Given the description of an element on the screen output the (x, y) to click on. 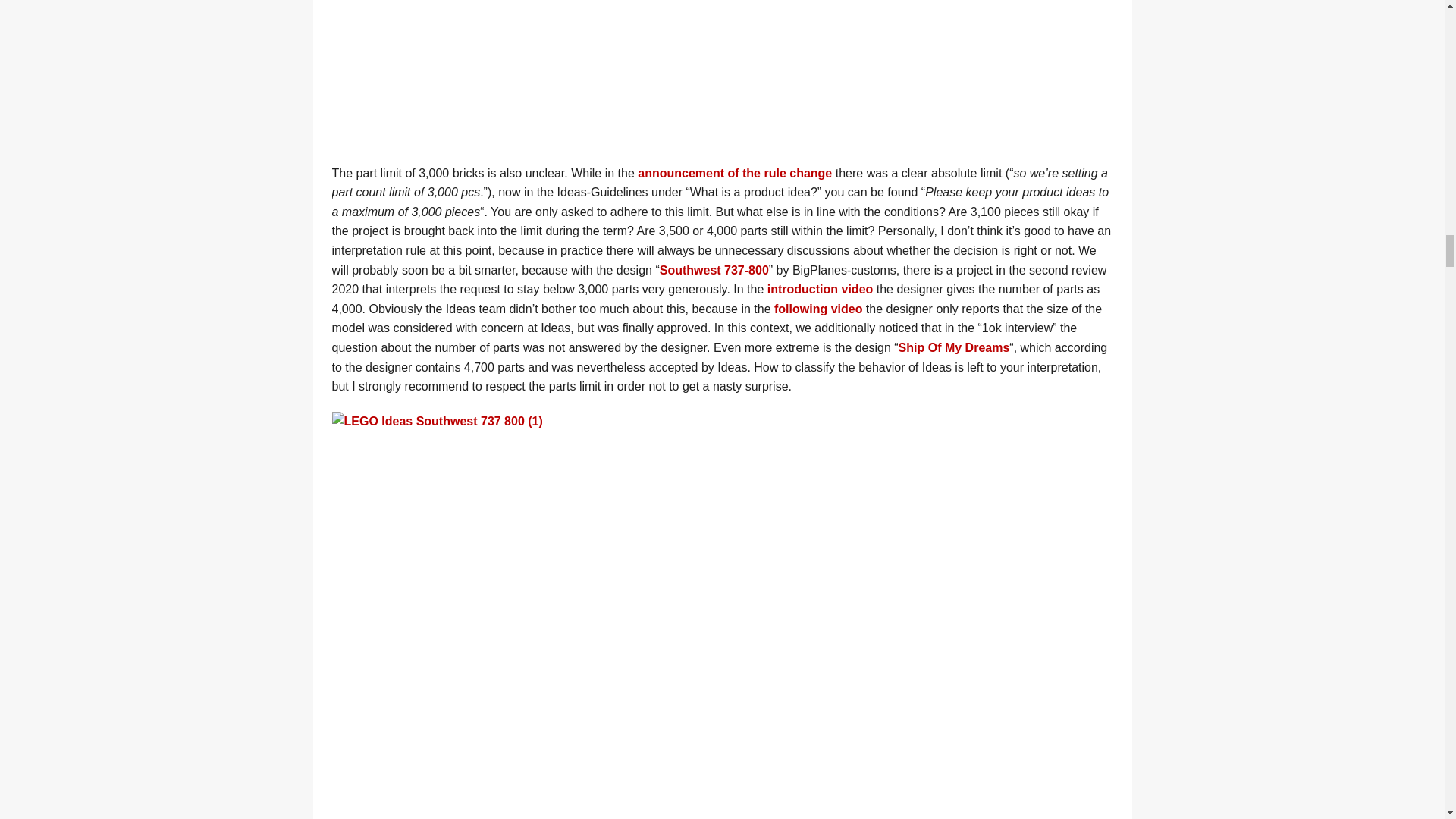
Southwest 737-800 (713, 269)
introduction video (820, 288)
announcement of the rule change (734, 173)
